Given the description of an element on the screen output the (x, y) to click on. 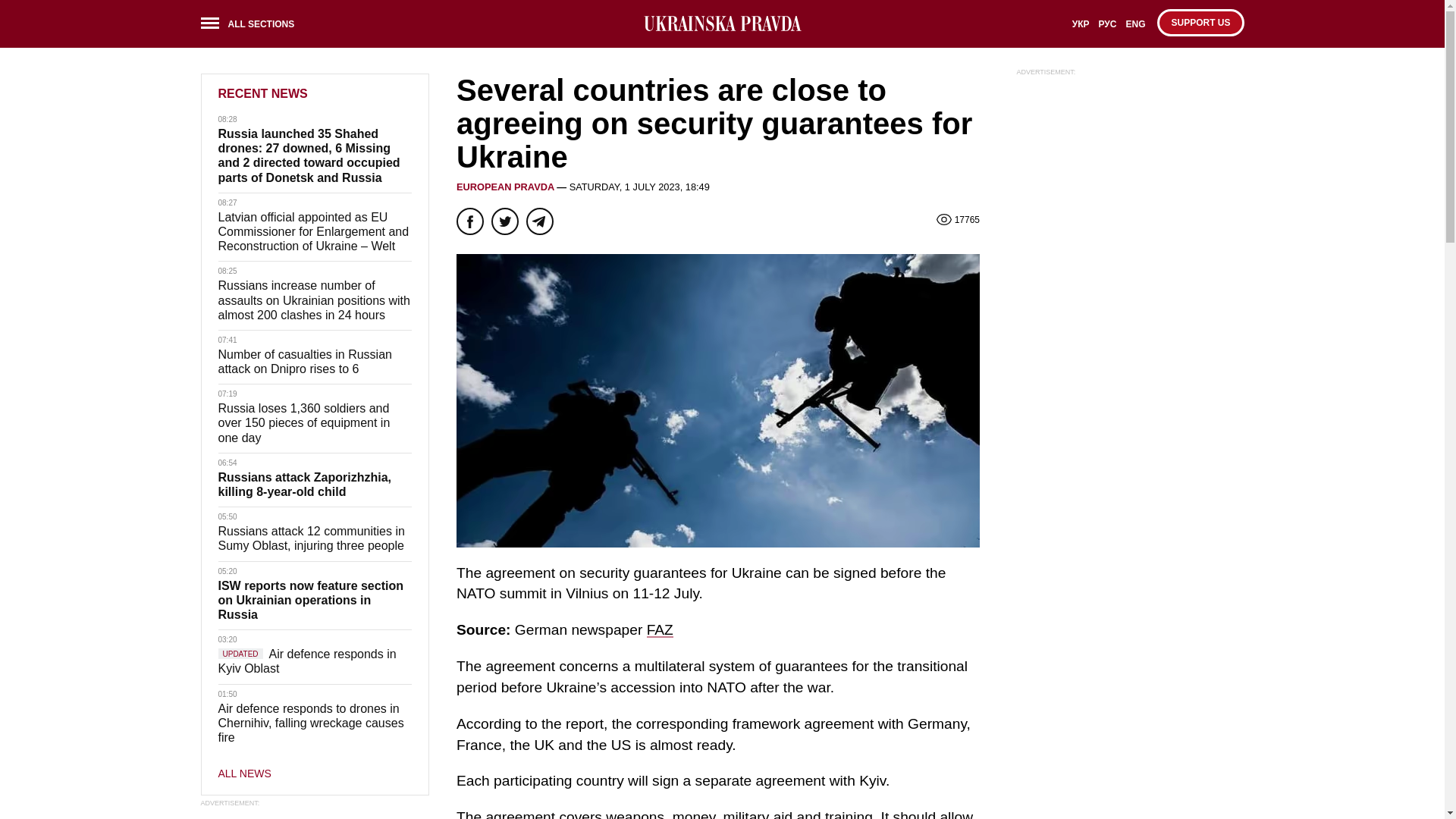
Ukrainska pravda (722, 23)
ENG (1135, 28)
Ukrainska pravda (722, 24)
SUPPORT US (1200, 22)
EUROPEAN PRAVDA (505, 186)
ALL SECTIONS (251, 26)
FAZ (659, 629)
